Given the description of an element on the screen output the (x, y) to click on. 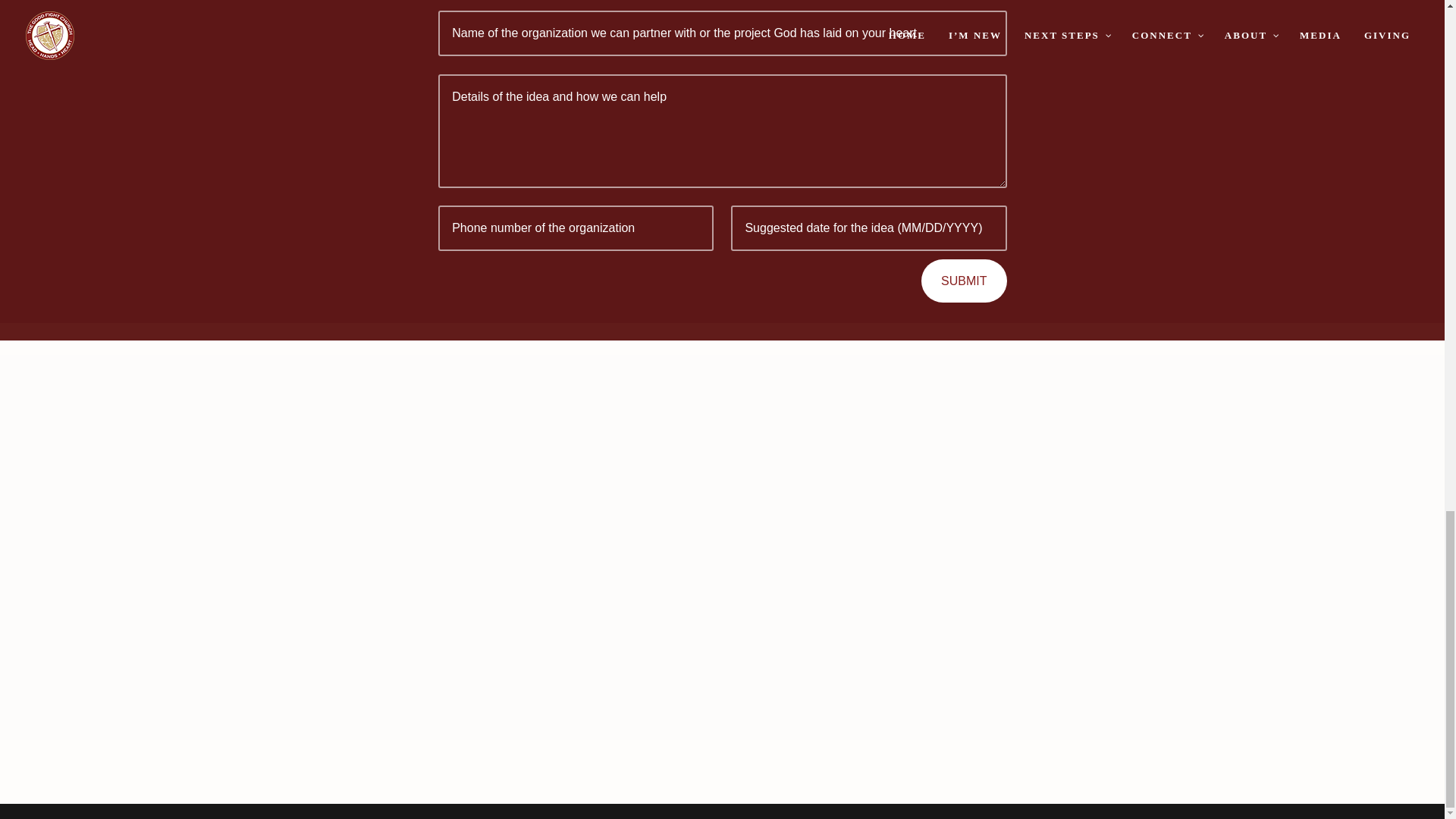
SUBMIT (963, 280)
